Given the description of an element on the screen output the (x, y) to click on. 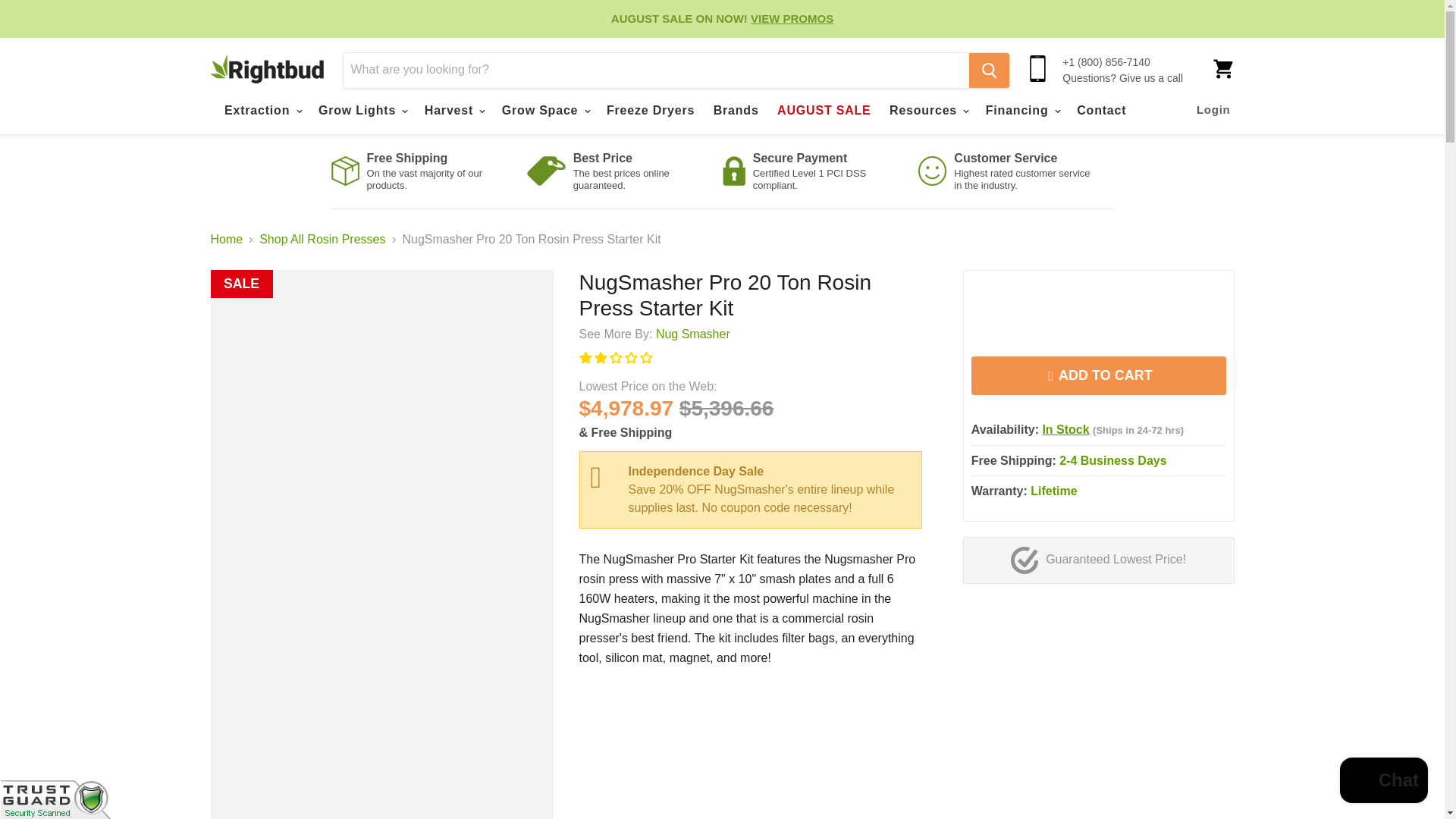
Extraction (261, 109)
Nug Smasher (693, 333)
Shopify online store chat (1383, 781)
View cart (1222, 68)
